Given the description of an element on the screen output the (x, y) to click on. 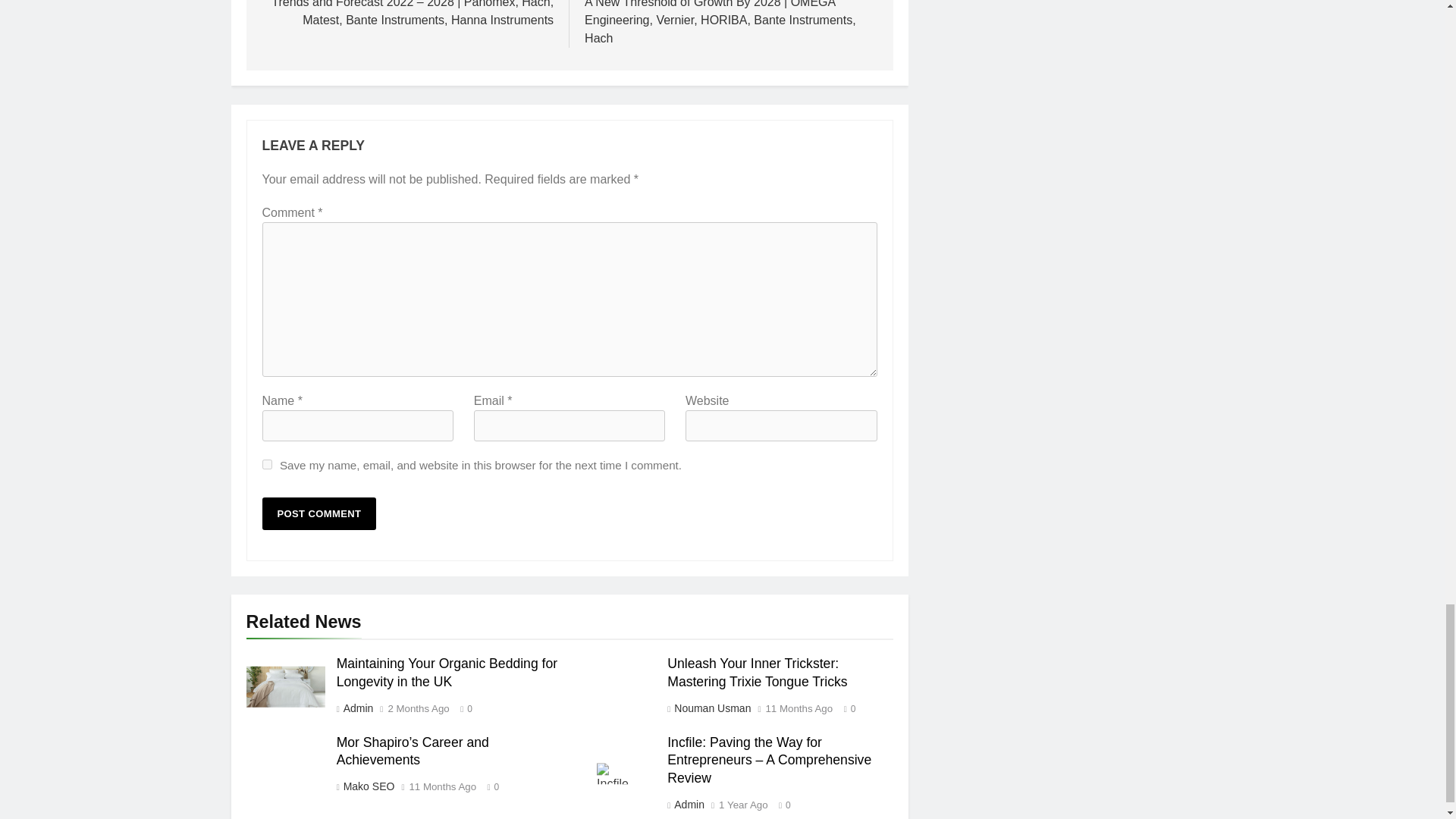
Post Comment (319, 513)
yes (267, 464)
